Given the description of an element on the screen output the (x, y) to click on. 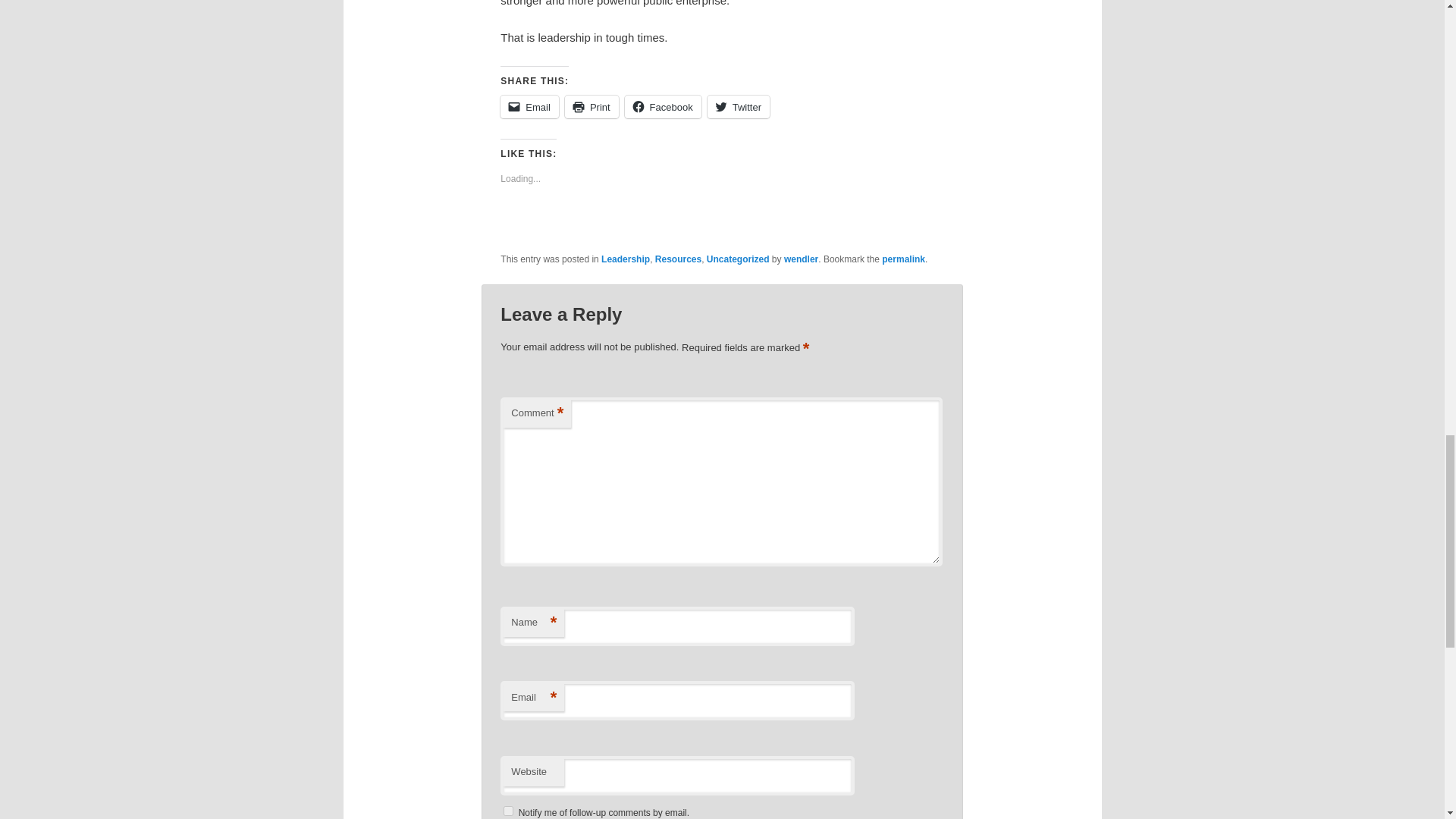
Click to share on Twitter (738, 106)
Resources (678, 258)
Twitter (738, 106)
permalink (903, 258)
Facebook (662, 106)
Click to email a link to a friend (529, 106)
Email (529, 106)
Uncategorized (738, 258)
wendler (801, 258)
Click to print (591, 106)
